Given the description of an element on the screen output the (x, y) to click on. 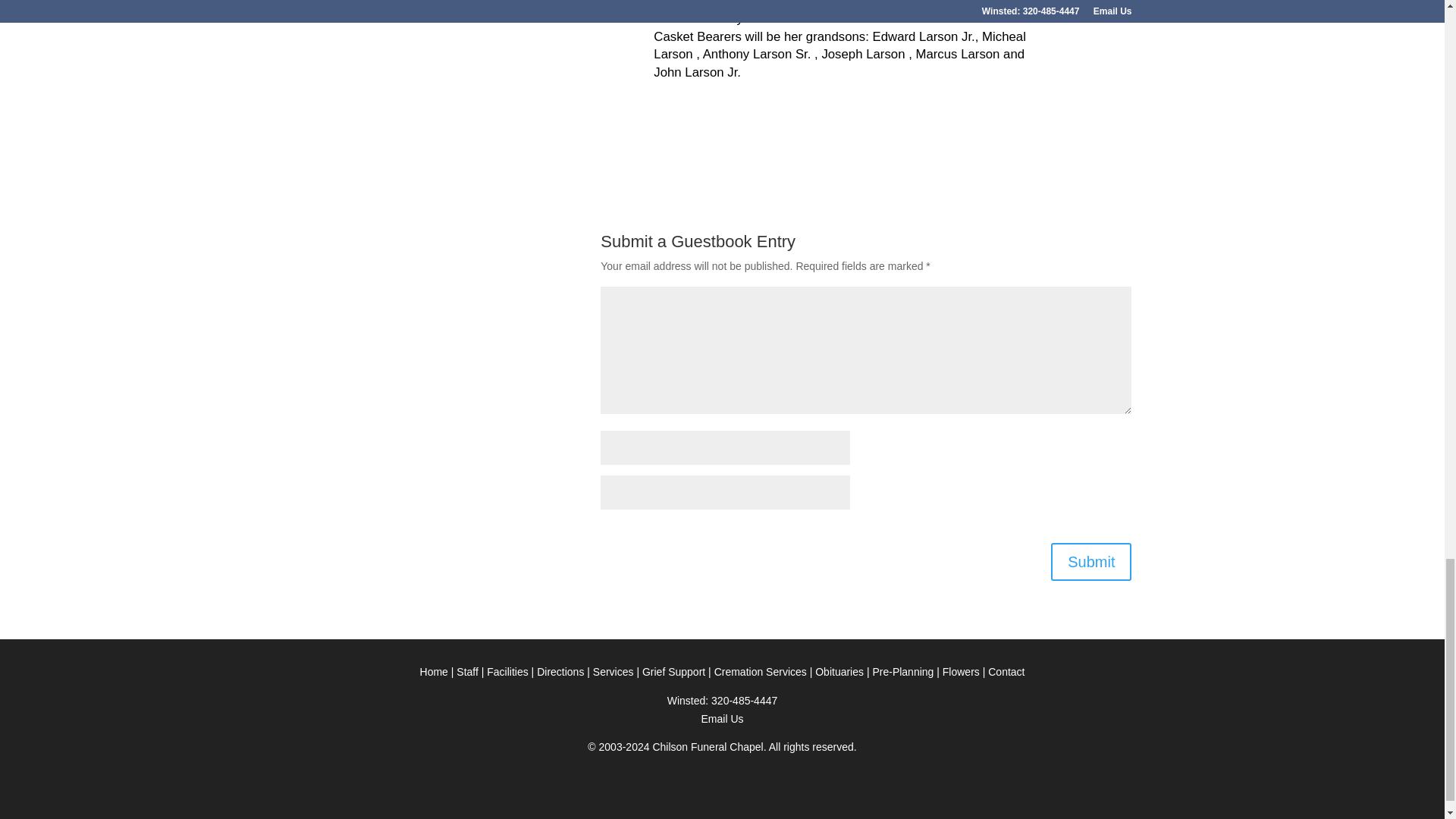
Submit (1091, 561)
